Given the description of an element on the screen output the (x, y) to click on. 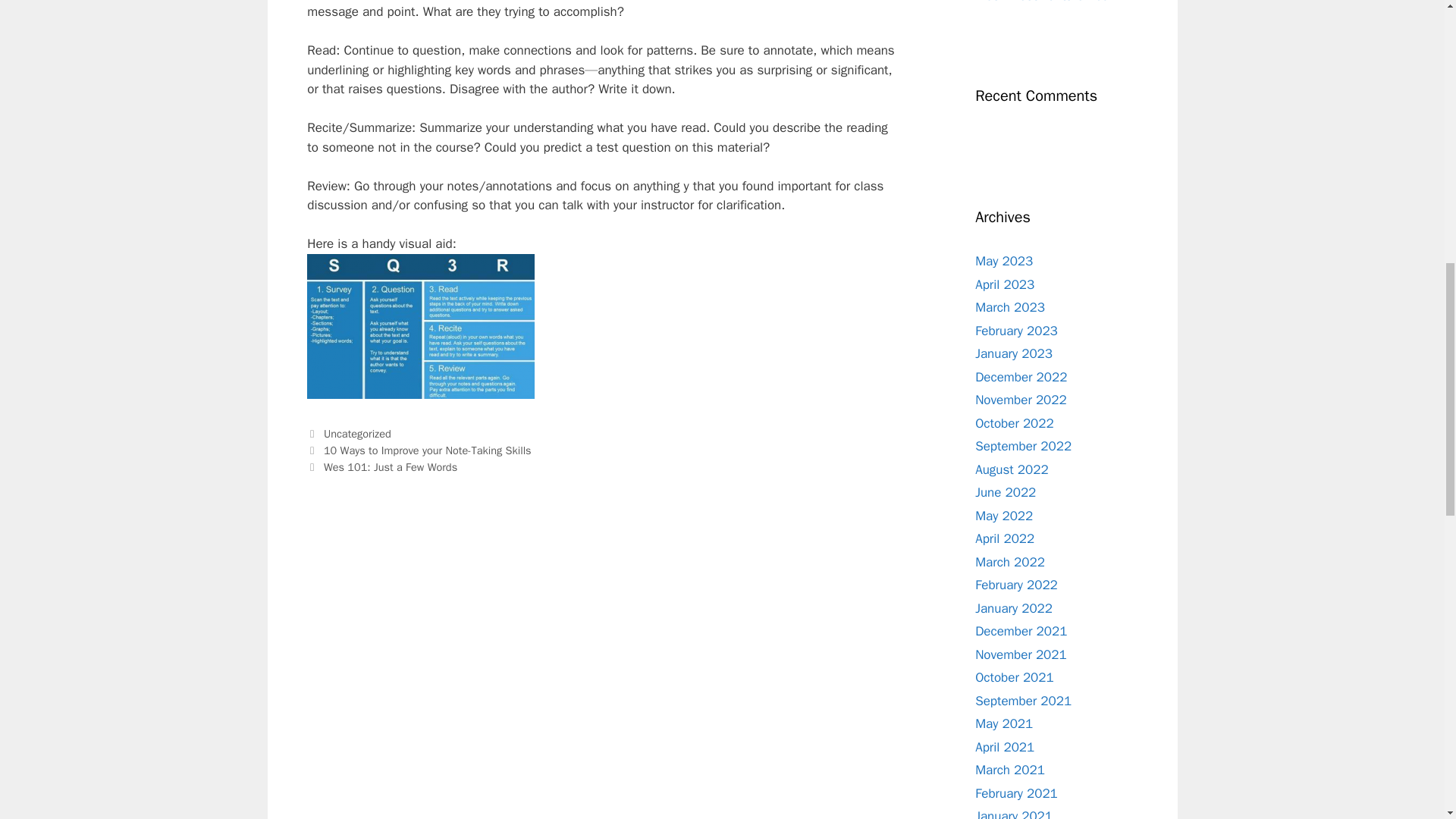
April 2023 (1004, 284)
Uncategorized (357, 433)
May 2023 (1003, 261)
Wes 101: Just a Few Words (390, 467)
10 Ways to Improve your Note-Taking Skills (427, 450)
March 2023 (1010, 307)
Wes Investments Office (1041, 2)
